Given the description of an element on the screen output the (x, y) to click on. 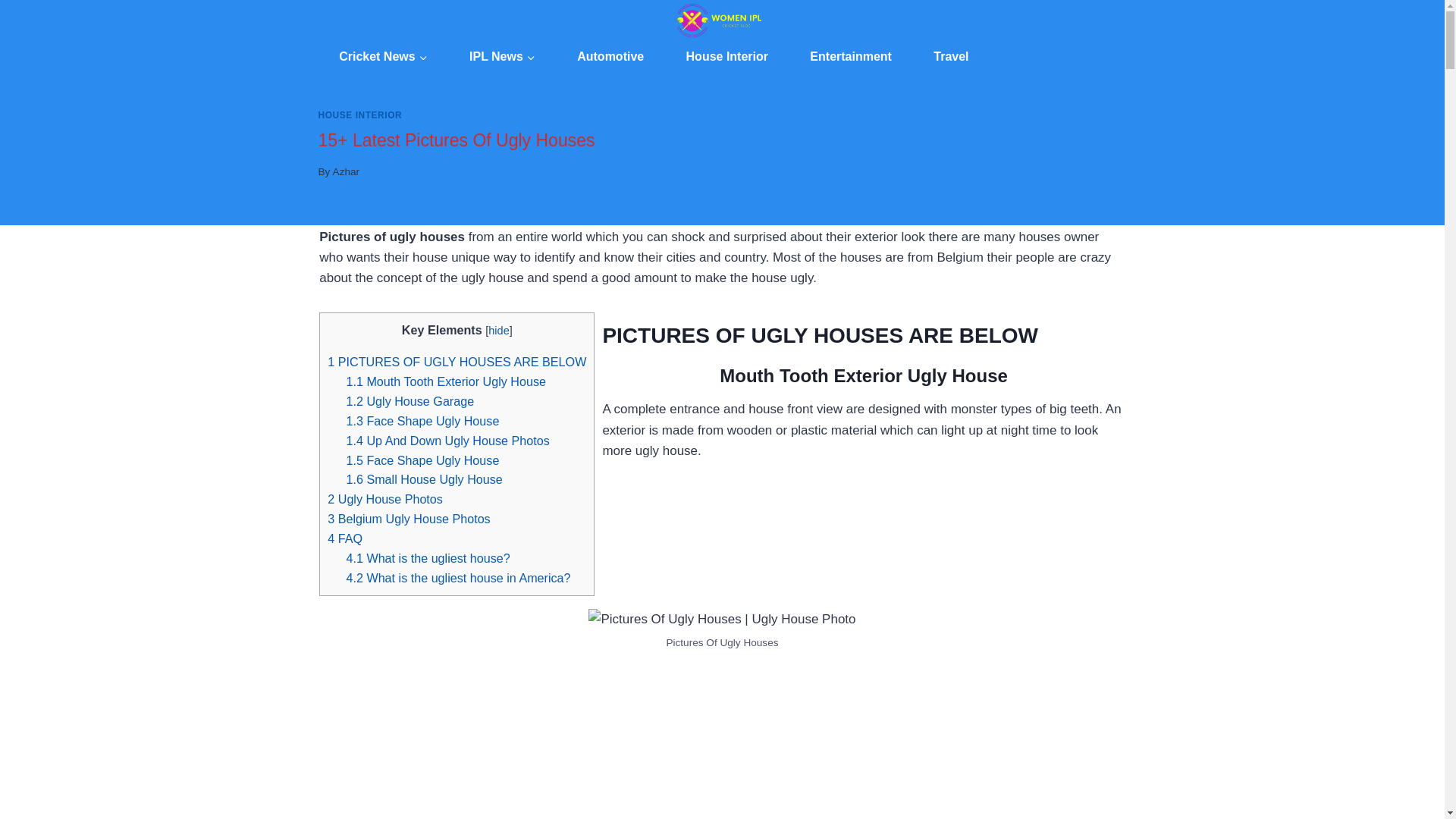
Cricket News (383, 56)
1.3 Face Shape Ugly House (422, 420)
hide (497, 330)
Travel (951, 56)
Entertainment (850, 56)
4.1 What is the ugliest house? (427, 558)
Automotive (610, 56)
House Interior (727, 56)
1.1 Mouth Tooth Exterior Ugly House (445, 381)
1.4 Up And Down Ugly House Photos (447, 440)
